Given the description of an element on the screen output the (x, y) to click on. 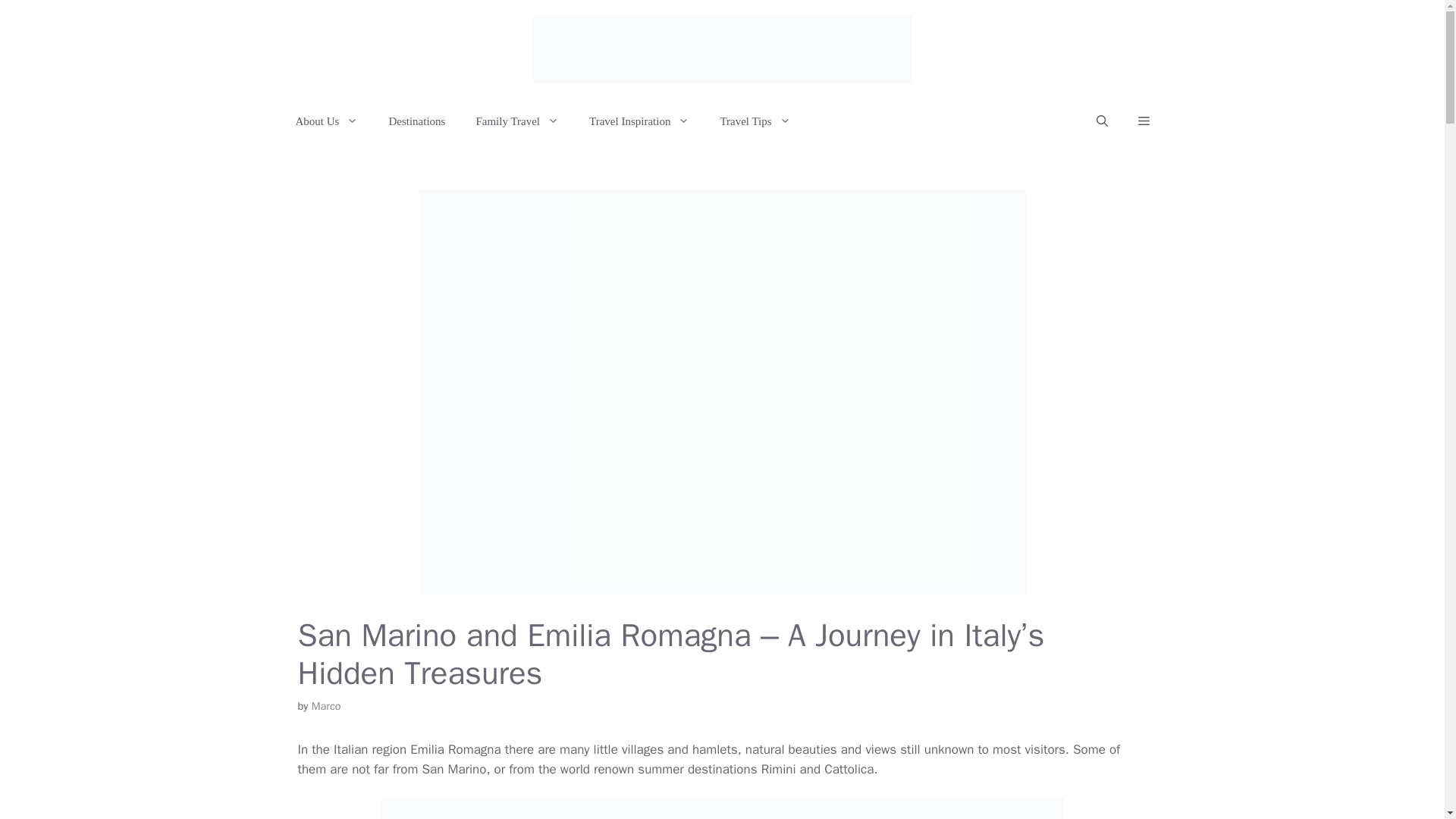
Travel Inspiration (638, 121)
Family Travel (516, 121)
View from San Marino (721, 808)
Destinations (416, 121)
View all posts by Marco (325, 705)
Marco (325, 705)
Travel Tips (754, 121)
About Us (327, 121)
